Given the description of an element on the screen output the (x, y) to click on. 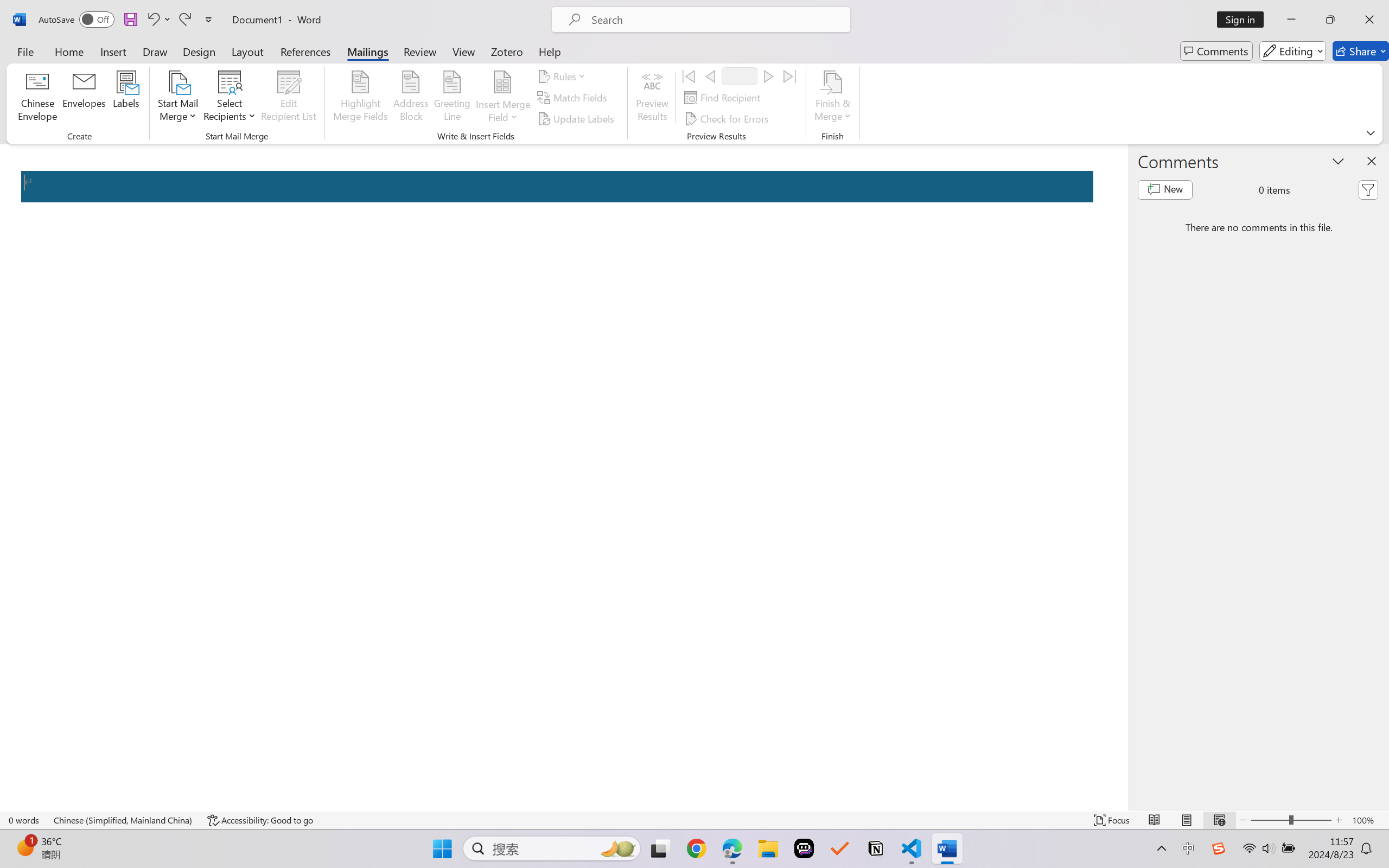
Edit Recipient List... (288, 97)
Last (790, 75)
Previous (709, 75)
Chinese Envelope... (37, 97)
